Given the description of an element on the screen output the (x, y) to click on. 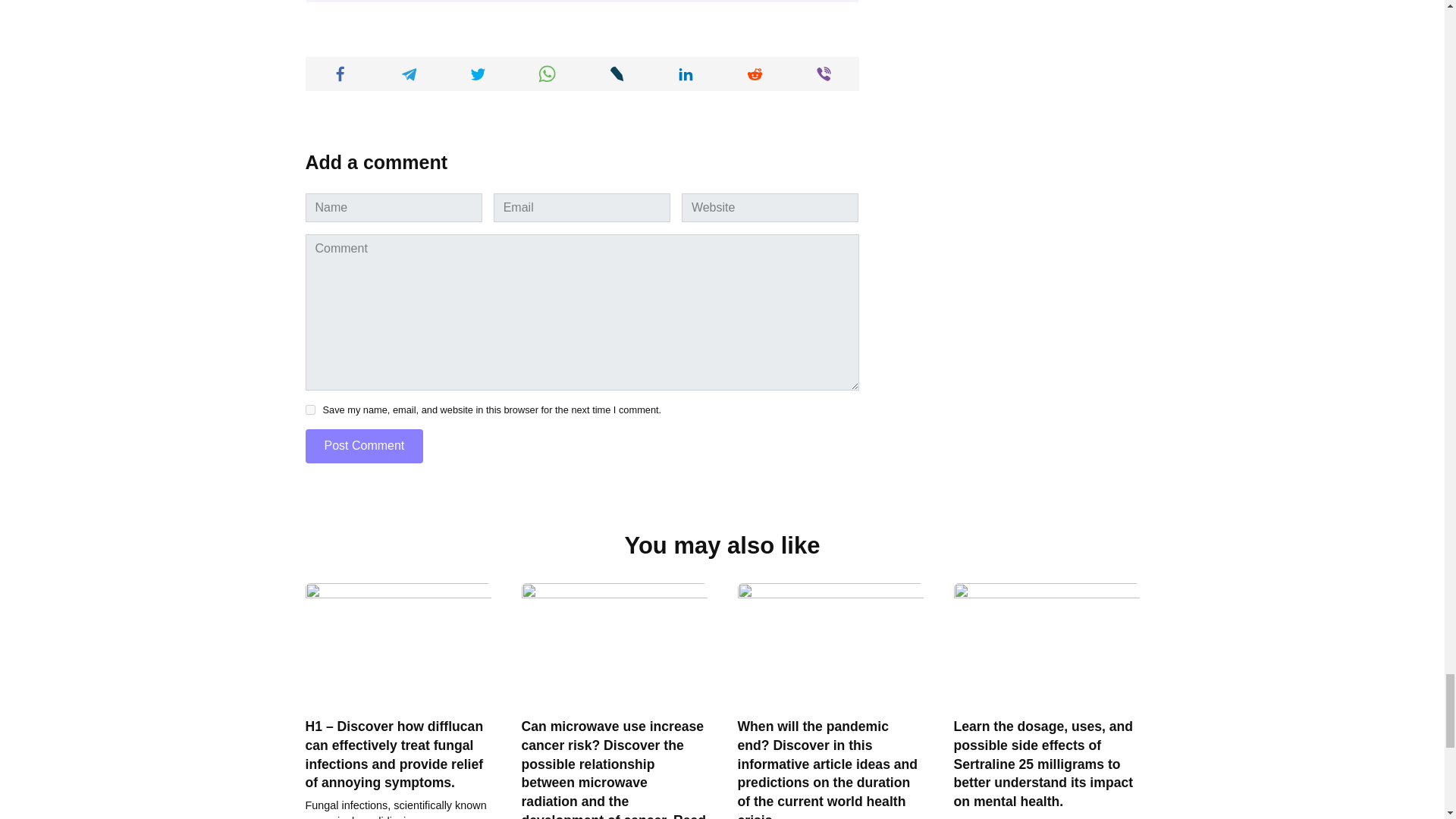
Post Comment (363, 446)
Post Comment (363, 446)
yes (309, 409)
